Given the description of an element on the screen output the (x, y) to click on. 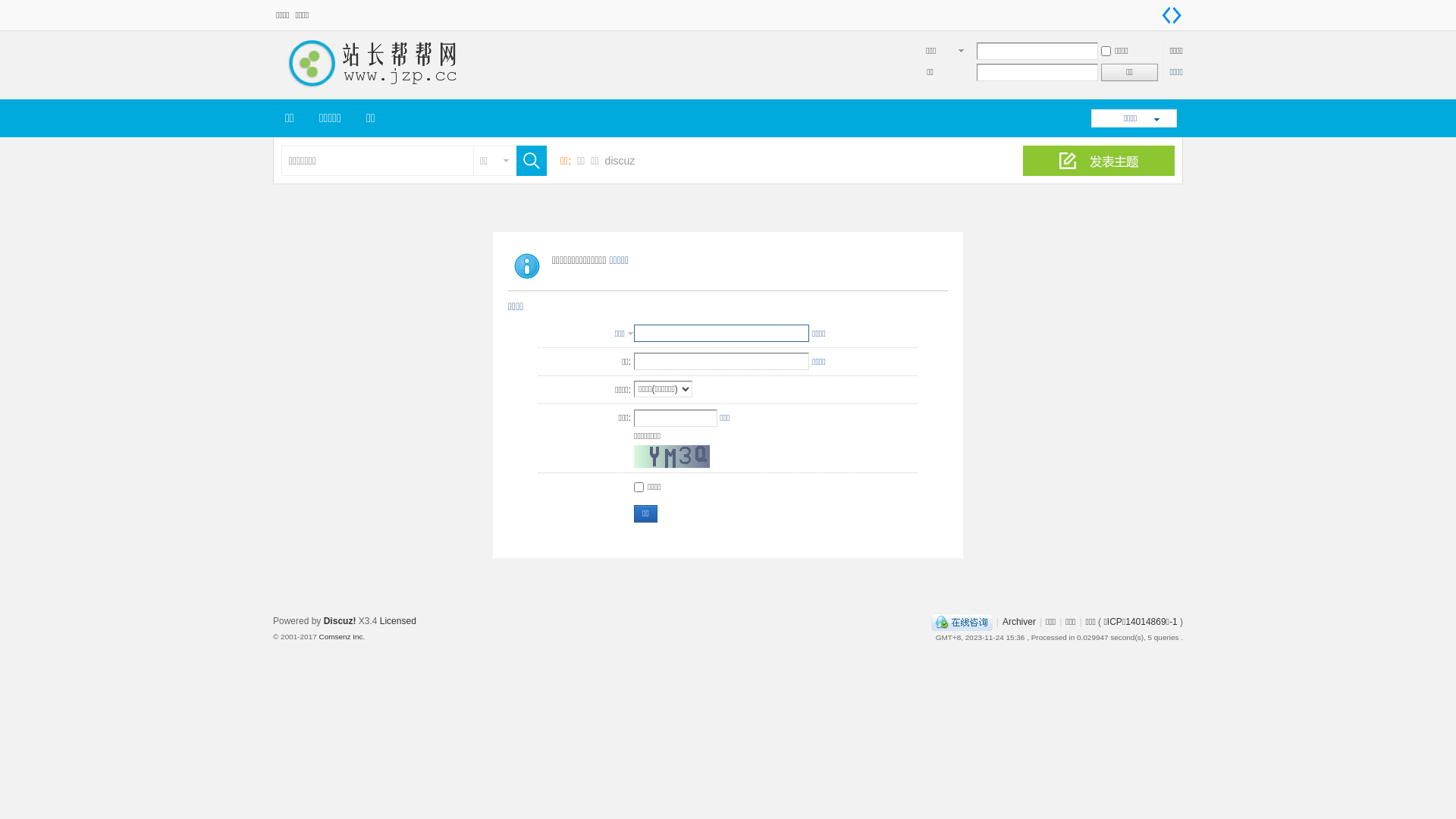
Discuz! Element type: text (339, 620)
Comsenz Inc. Element type: text (341, 636)
Licensed Element type: text (397, 620)
QQ Element type: hover (961, 621)
true Element type: text (527, 160)
discuz Element type: text (620, 160)
Archiver Element type: text (1018, 621)
